Given the description of an element on the screen output the (x, y) to click on. 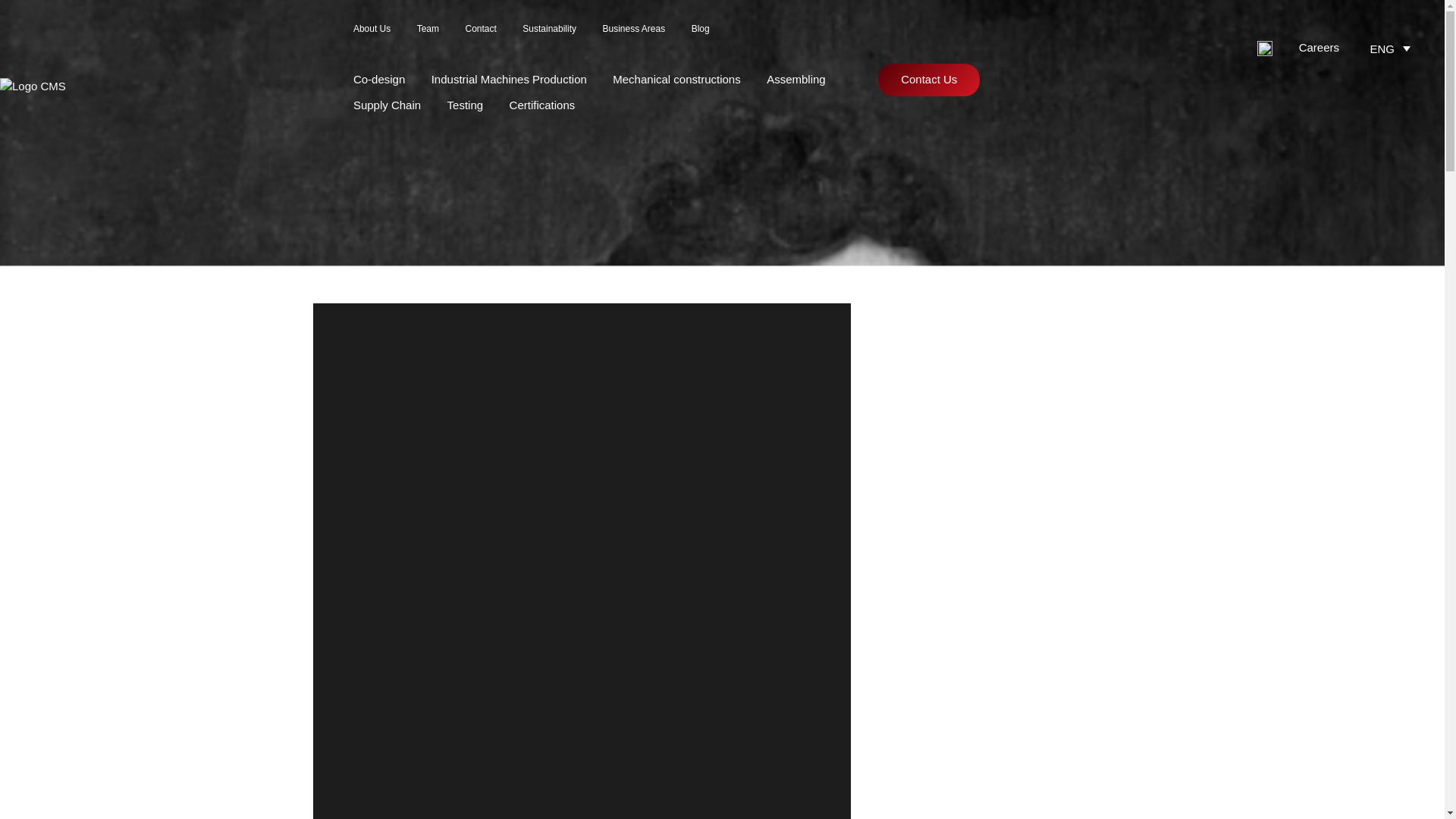
Assembling (796, 78)
Contact (480, 28)
Team (427, 28)
ENG (1391, 47)
Business Areas (633, 28)
Sustainability (549, 28)
Blog (700, 28)
About Us (371, 28)
Certifications (542, 104)
Supply Chain (386, 104)
Contact Us (928, 79)
Co-design (378, 78)
Mechanical constructions (675, 78)
Industrial Machines Production (508, 78)
Testing (464, 104)
